Given the description of an element on the screen output the (x, y) to click on. 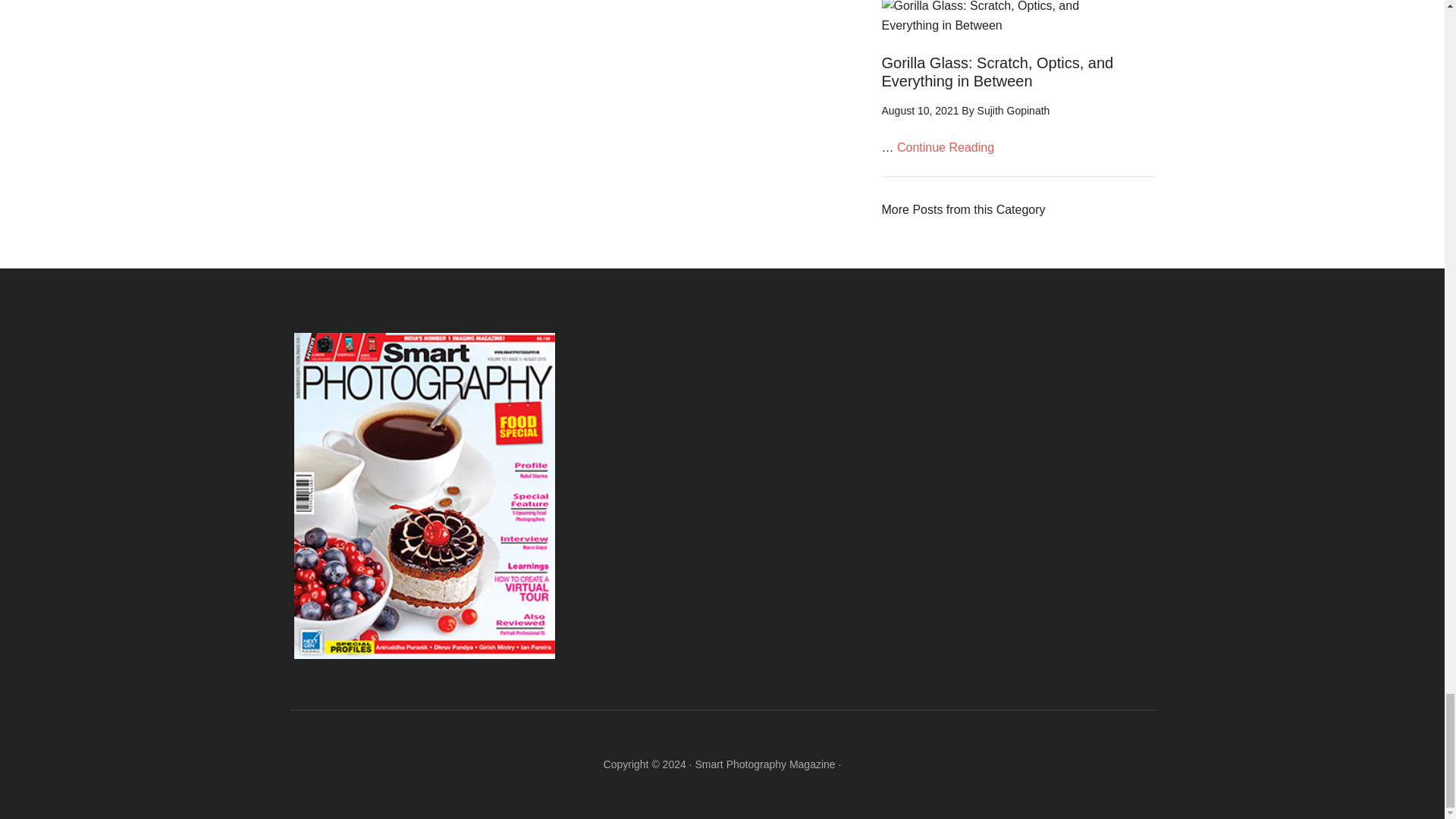
Specials (962, 209)
